Given the description of an element on the screen output the (x, y) to click on. 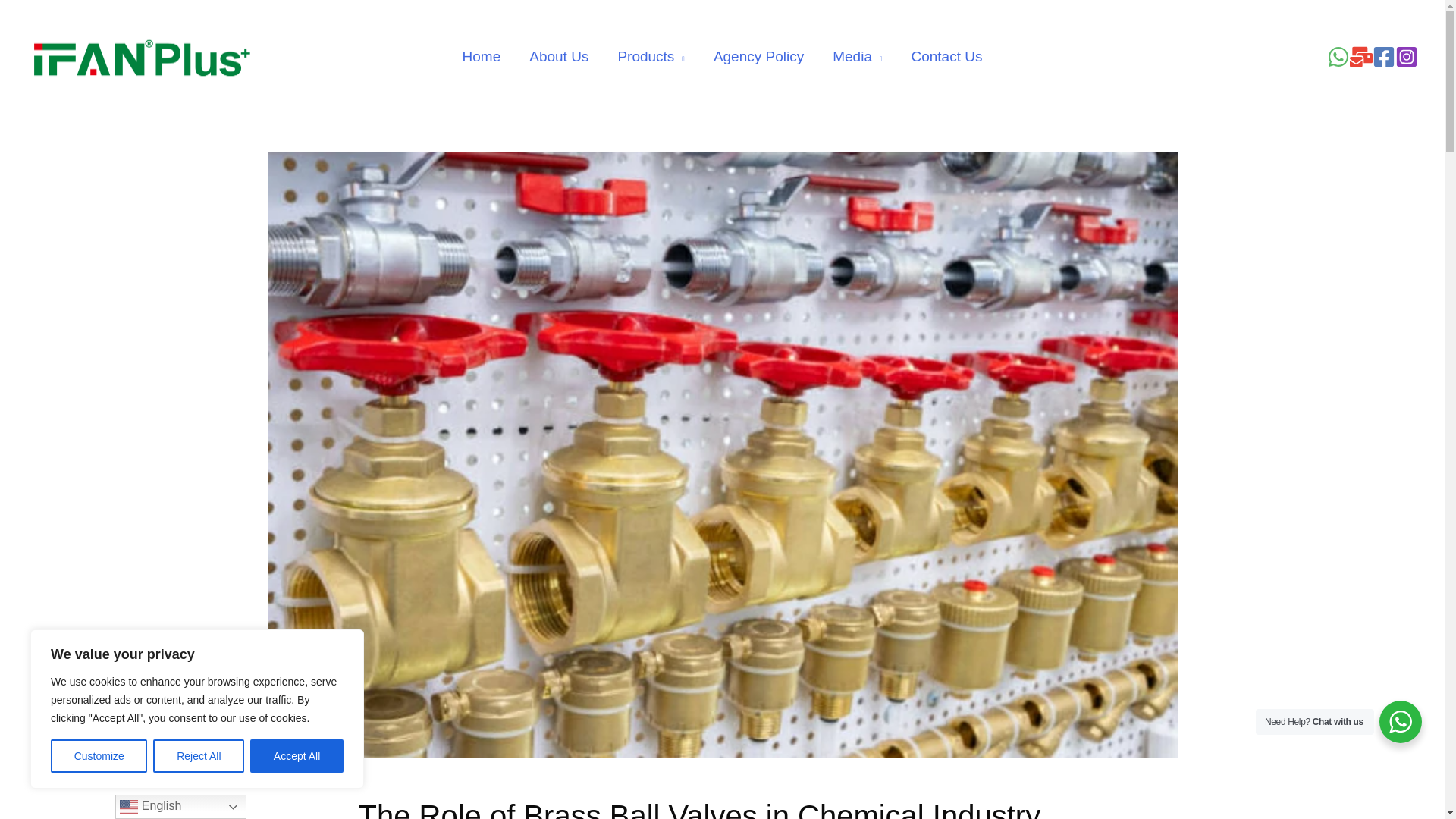
Products (650, 56)
Home (481, 56)
About Us (558, 56)
Accept All (296, 756)
Reject All (198, 756)
Customize (98, 756)
